Given the description of an element on the screen output the (x, y) to click on. 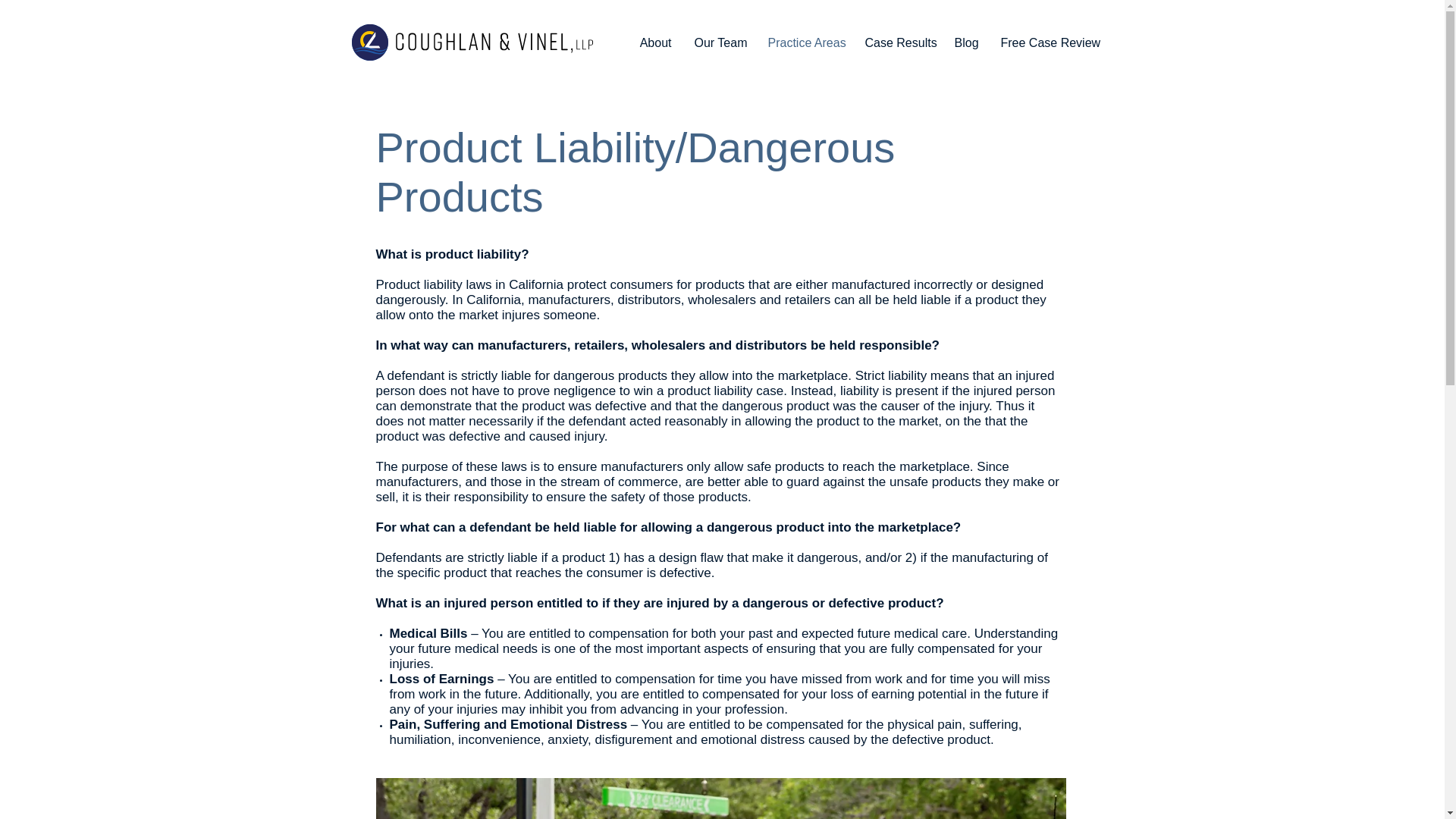
About (654, 43)
Case Results (898, 43)
Our Team (718, 43)
Practice Areas (805, 43)
Blog (966, 43)
Free Case Review (1045, 43)
